Given the description of an element on the screen output the (x, y) to click on. 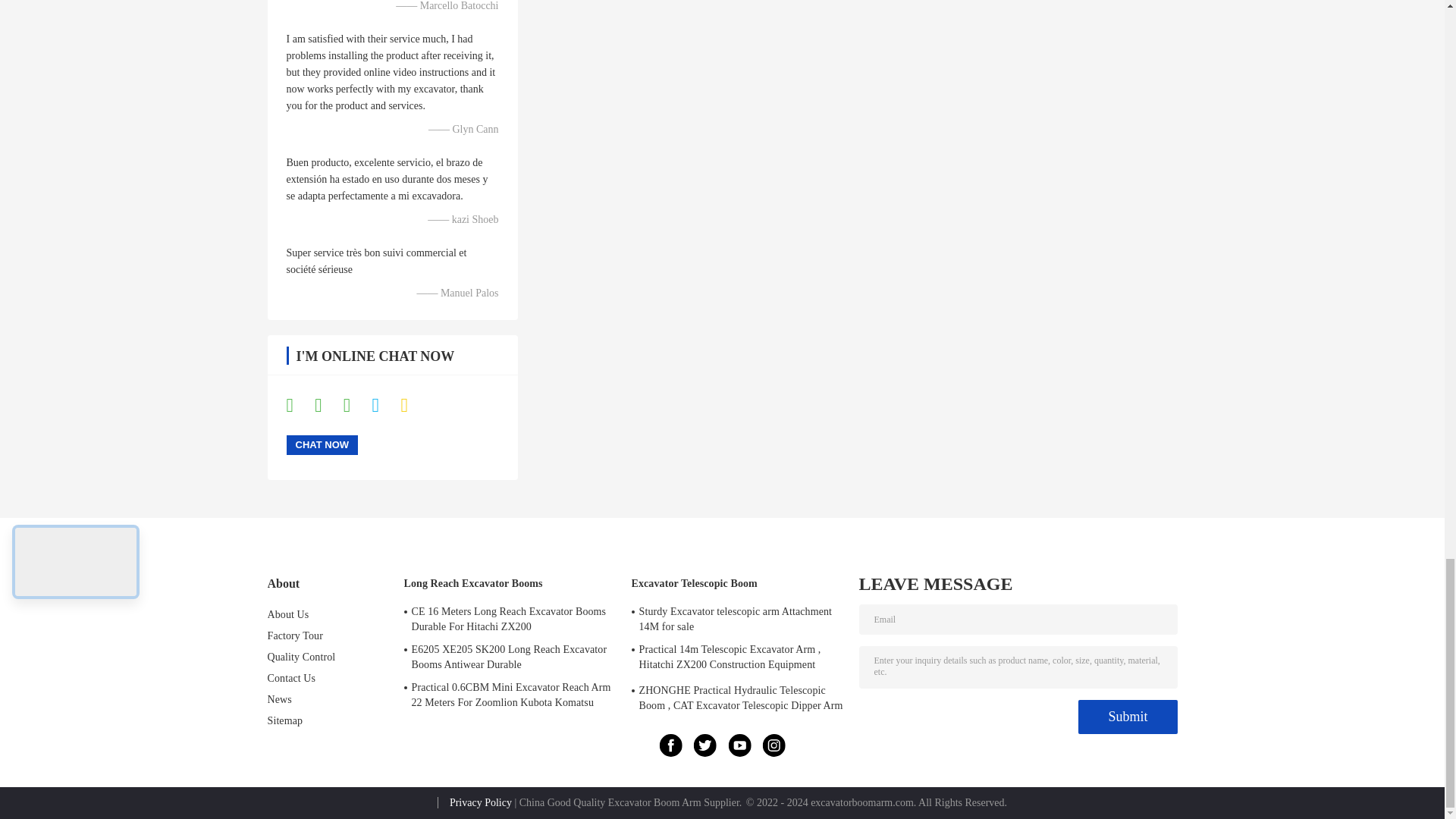
Submit (1127, 716)
Chat Now (322, 444)
